Given the description of an element on the screen output the (x, y) to click on. 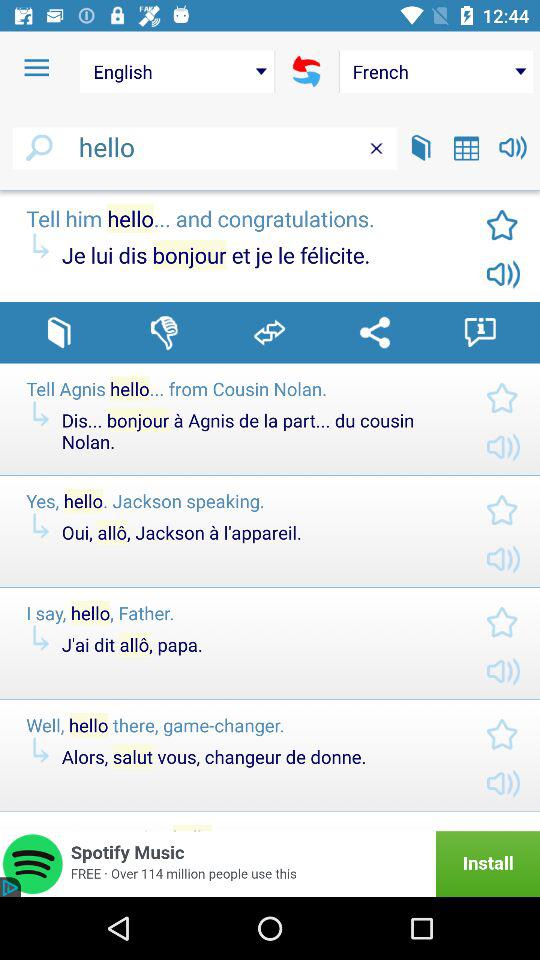
dislike selection (163, 332)
